Given the description of an element on the screen output the (x, y) to click on. 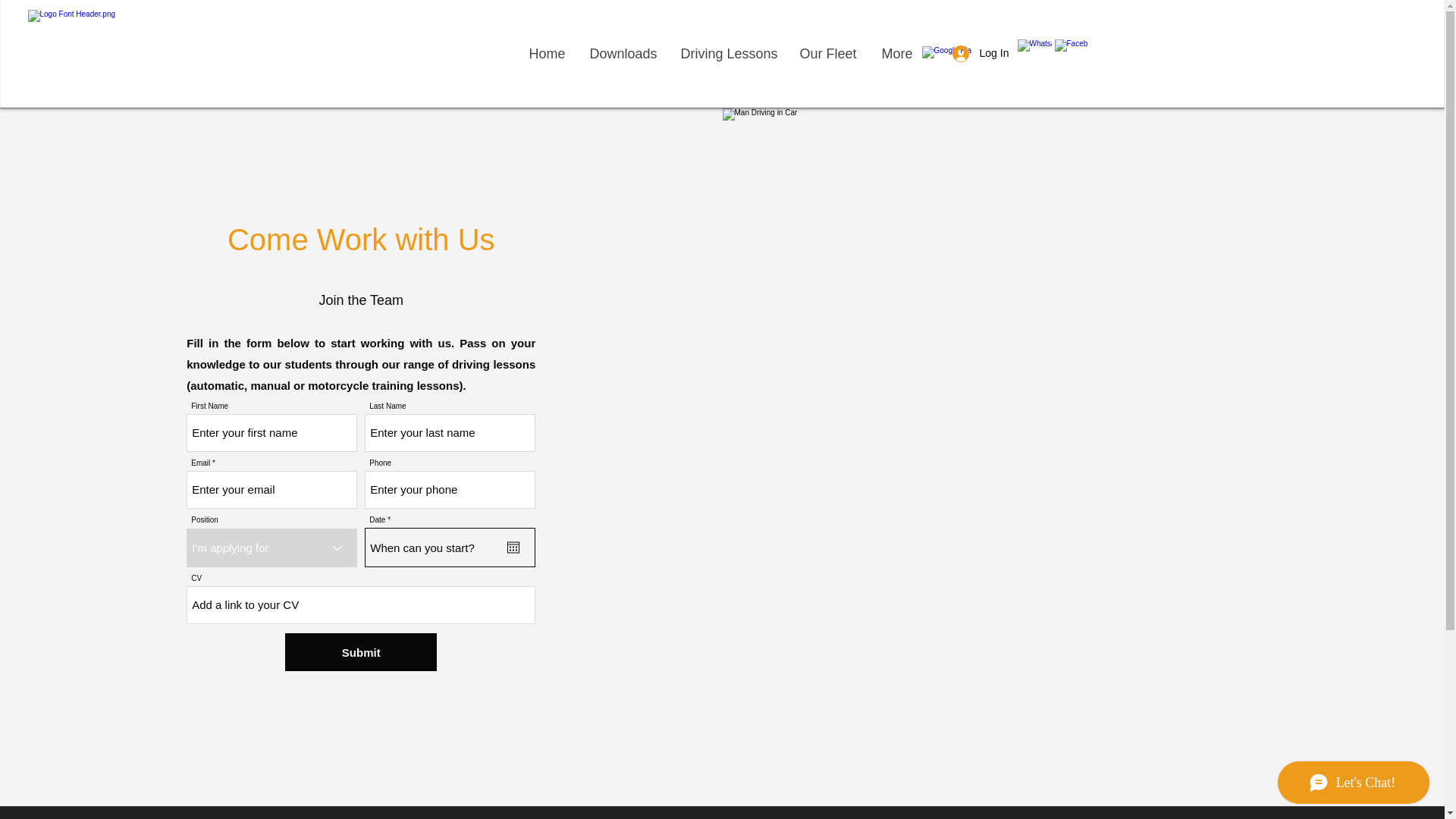
Driving Lessons (727, 53)
Downloads (623, 53)
Submit (360, 651)
Home (546, 53)
Our Fleet (827, 53)
Log In (971, 53)
